Given the description of an element on the screen output the (x, y) to click on. 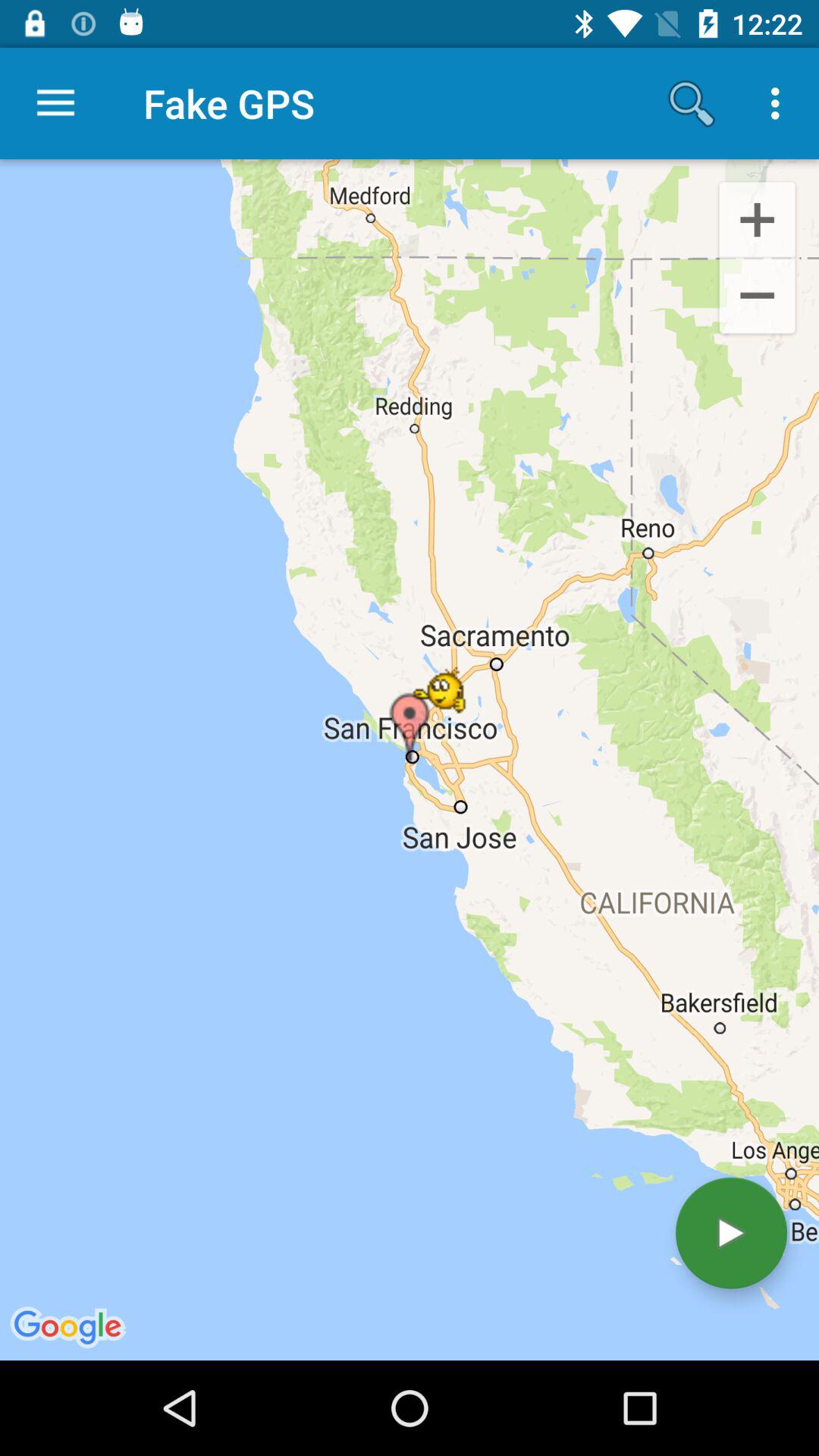
turn off icon to the right of fake gps app (691, 103)
